Given the description of an element on the screen output the (x, y) to click on. 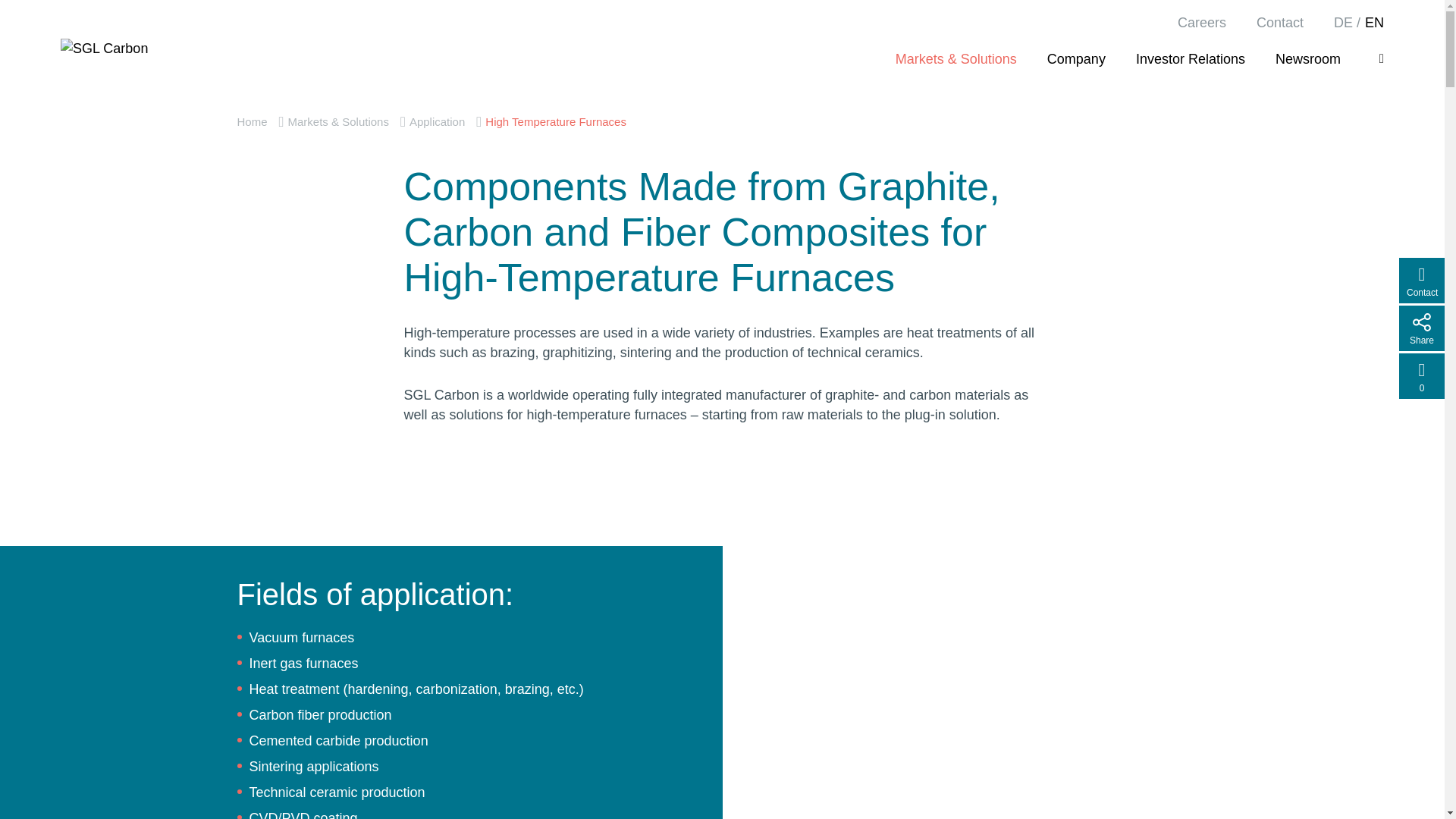
Company (1075, 58)
DE (1342, 22)
Contact (1279, 22)
Careers (1201, 22)
SGL Carbon EN (250, 121)
